Given the description of an element on the screen output the (x, y) to click on. 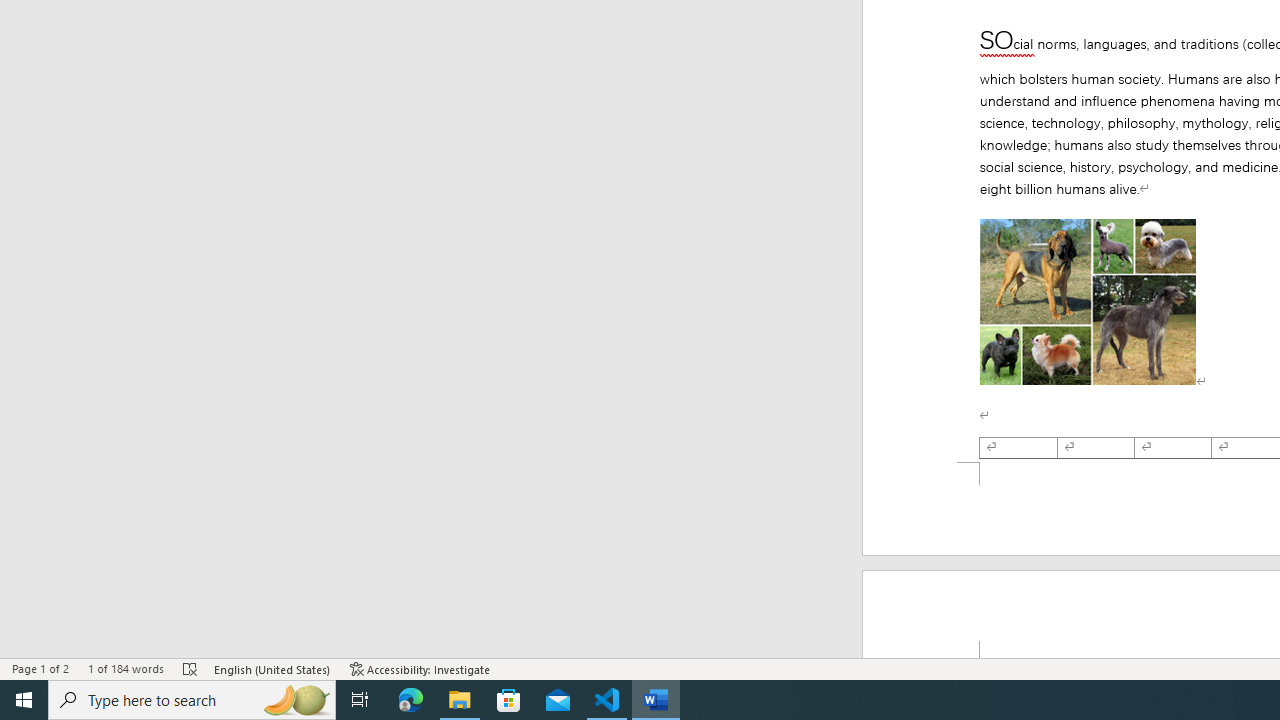
Page Number Page 1 of 2 (39, 668)
